Given the description of an element on the screen output the (x, y) to click on. 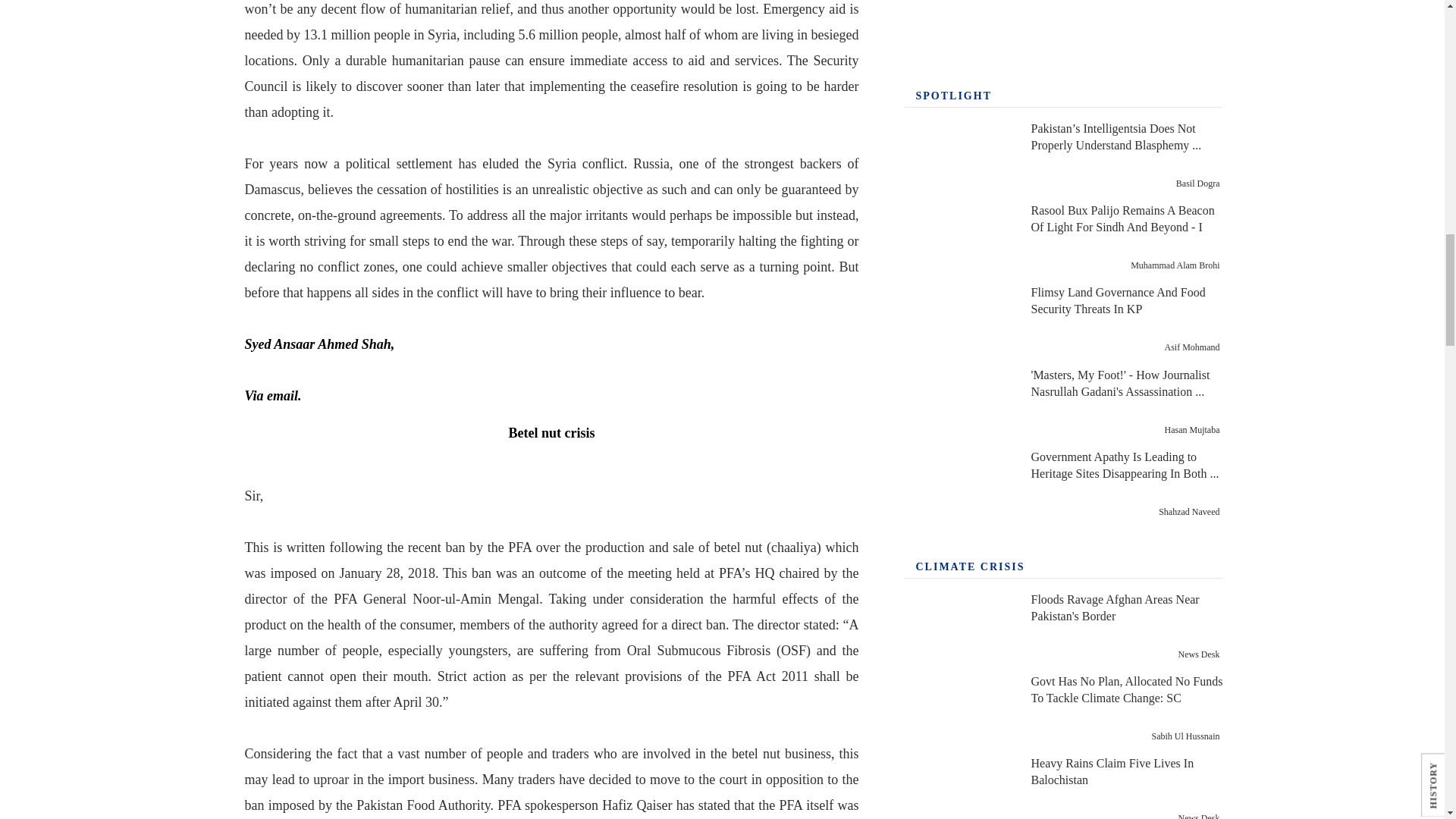
donor-box (1063, 27)
Floods Ravage Afghan Areas Near Pakistan's Border (959, 626)
Flimsy Land Governance And Food Security Threats In KP (959, 319)
